Given the description of an element on the screen output the (x, y) to click on. 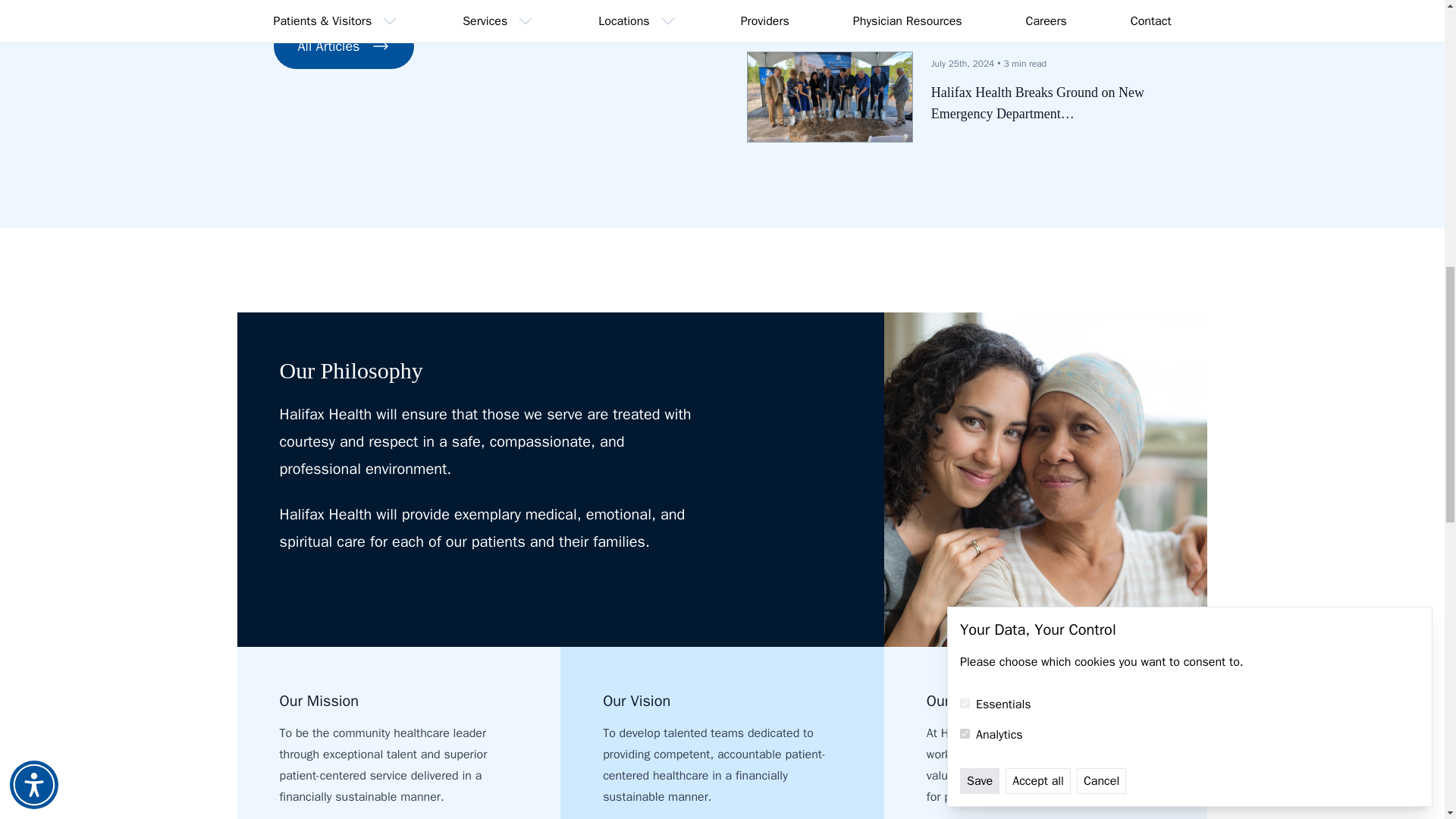
Under the Tower: Team Member of the Month, Michelle Mitchel (1051, 7)
